Given the description of an element on the screen output the (x, y) to click on. 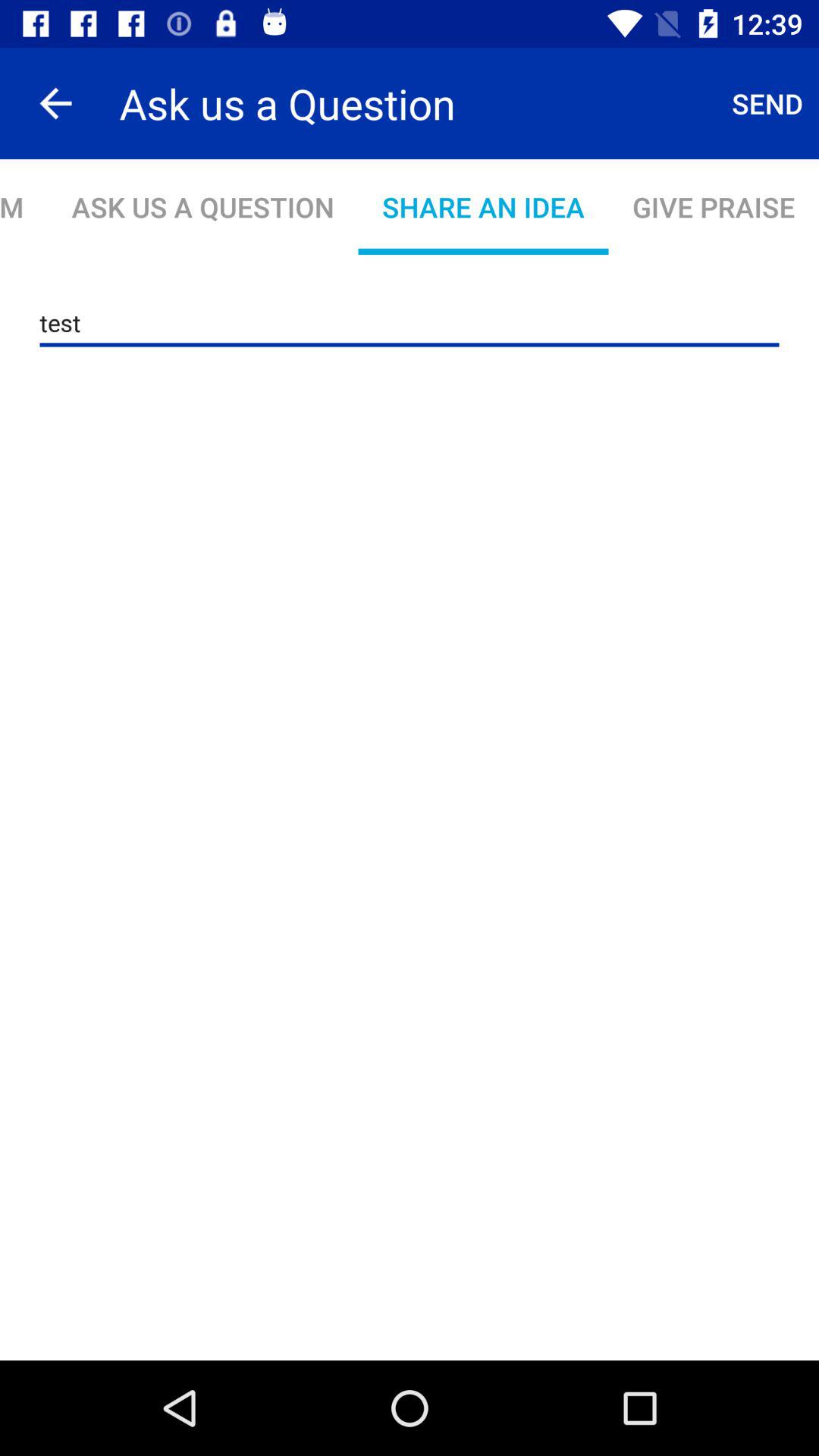
jump to the test item (409, 323)
